Given the description of an element on the screen output the (x, y) to click on. 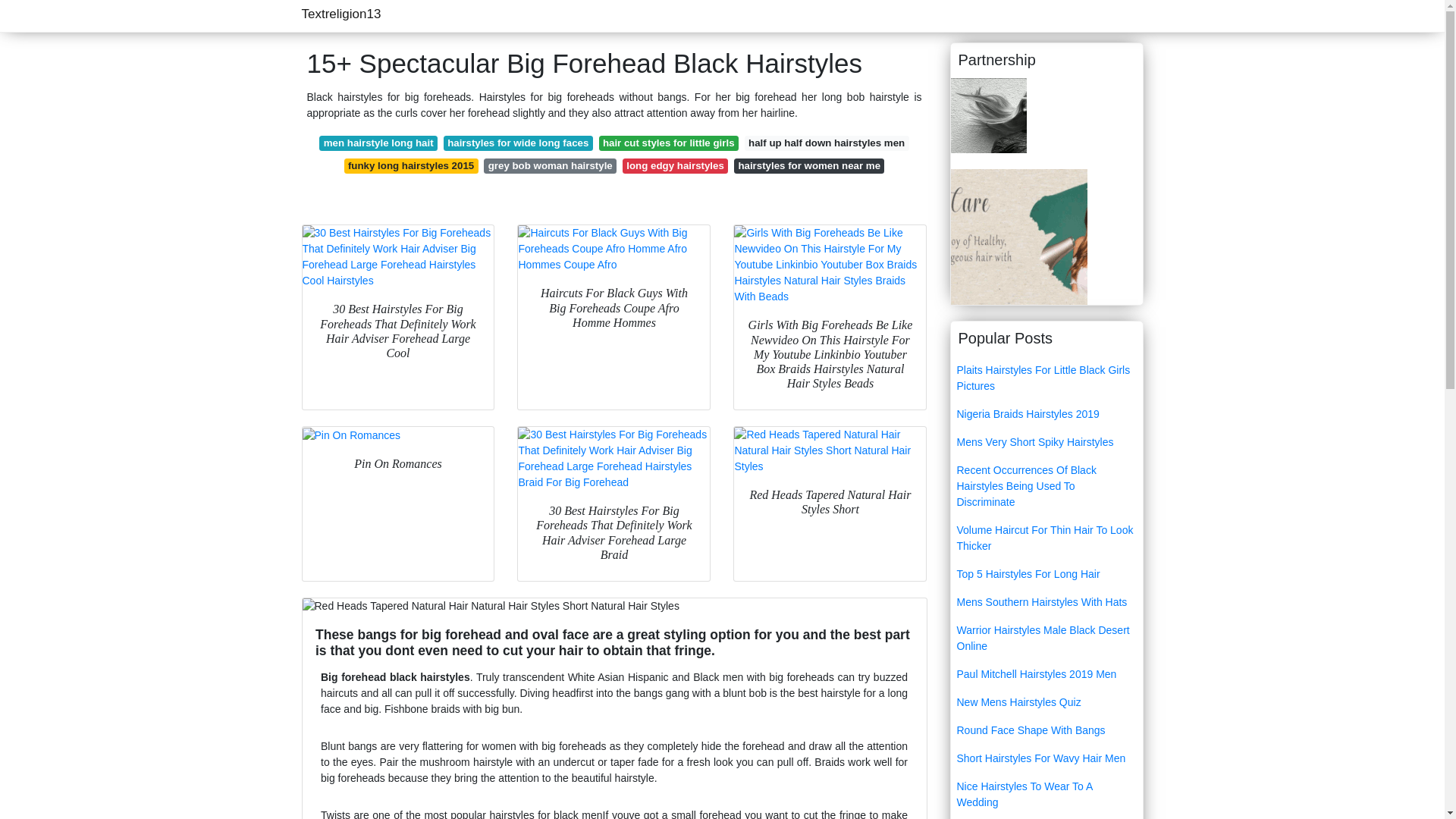
Volume Haircut For Thin Hair To Look Thicker (1046, 538)
funky long hairstyles 2015 (411, 165)
Textreligion13 (341, 13)
hair cut styles for little girls (668, 142)
hairstyles for women near me (808, 165)
Short Hairstyles For Wavy Hair Men (1046, 758)
Top 5 Hairstyles For Long Hair (1046, 574)
Plaits Hairstyles For Little Black Girls Pictures (1046, 378)
Manmistake24 (988, 114)
half up half down hairstyles men (826, 142)
men hairstyle long hait (377, 142)
Nice Hairstyles To Wear To A Wedding (1046, 794)
Recipewatch7 (1018, 235)
Round Face Shape With Bangs (1046, 730)
hairstyles for wide long faces (518, 142)
